Given the description of an element on the screen output the (x, y) to click on. 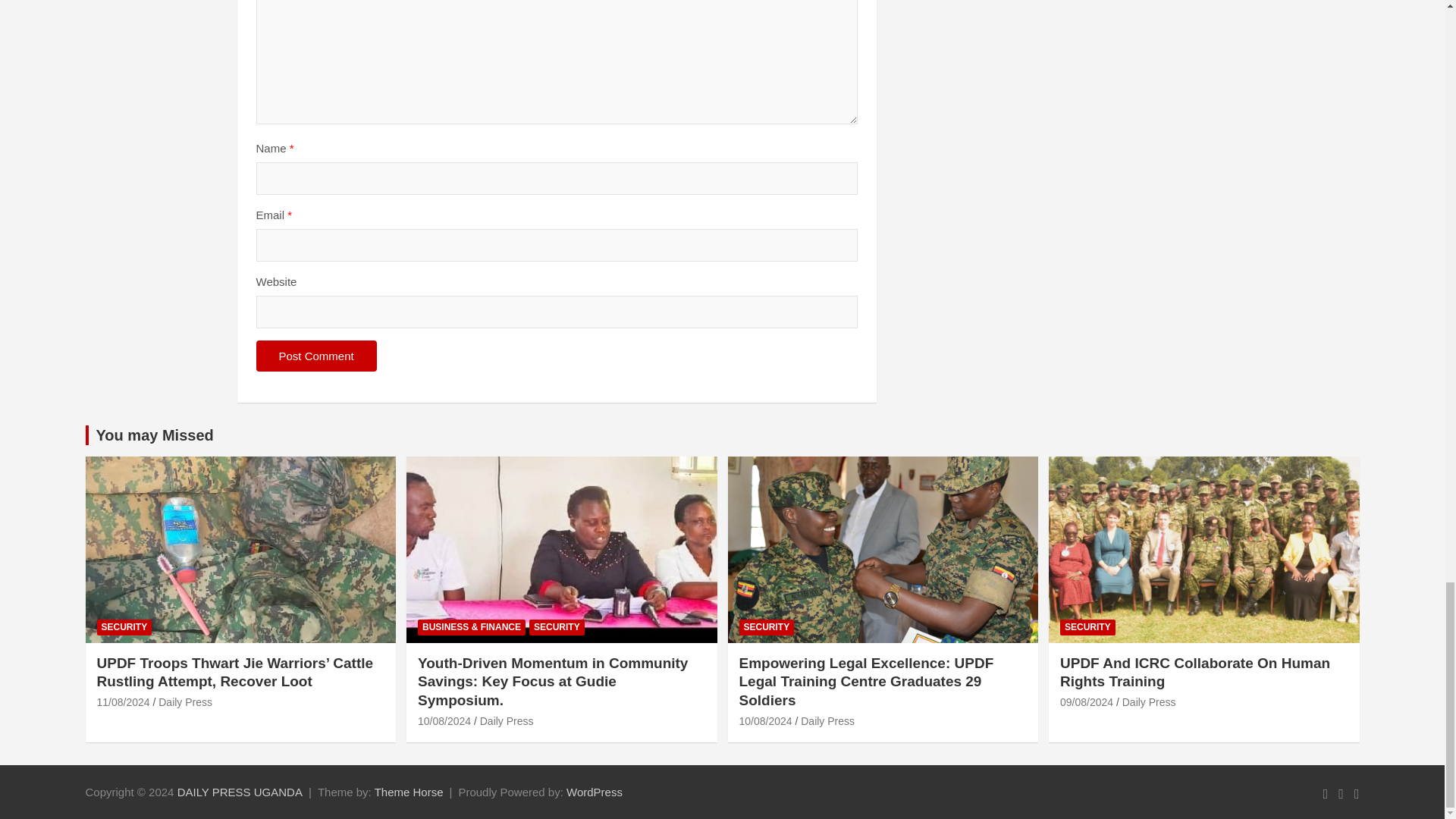
UPDF And ICRC Collaborate On Human Rights Training (1086, 702)
WordPress (594, 791)
Theme Horse (409, 791)
DAILY PRESS UGANDA (239, 791)
Post Comment (316, 355)
Post Comment (316, 355)
